Given the description of an element on the screen output the (x, y) to click on. 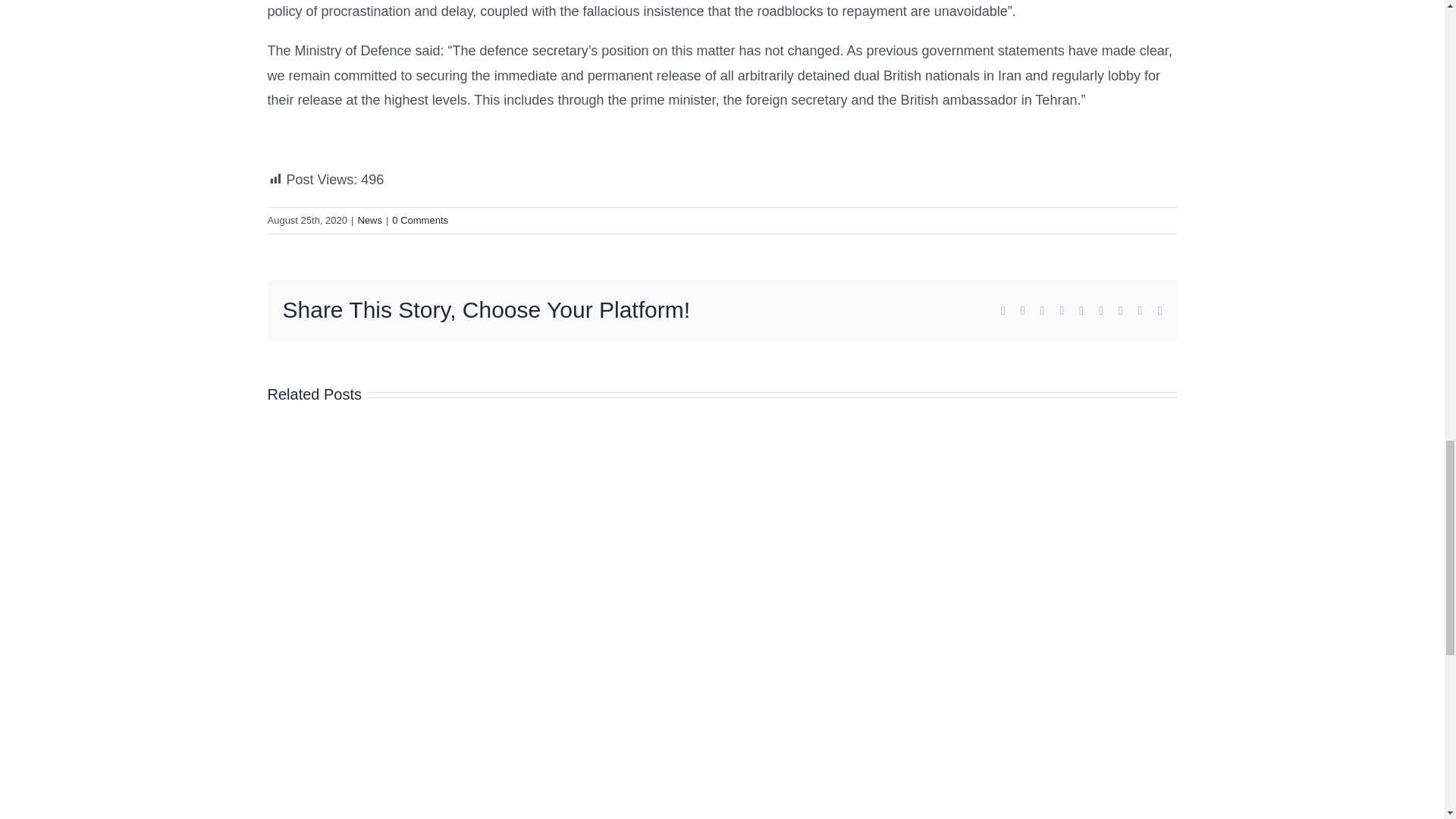
News (368, 220)
0 Comments (419, 220)
